Given the description of an element on the screen output the (x, y) to click on. 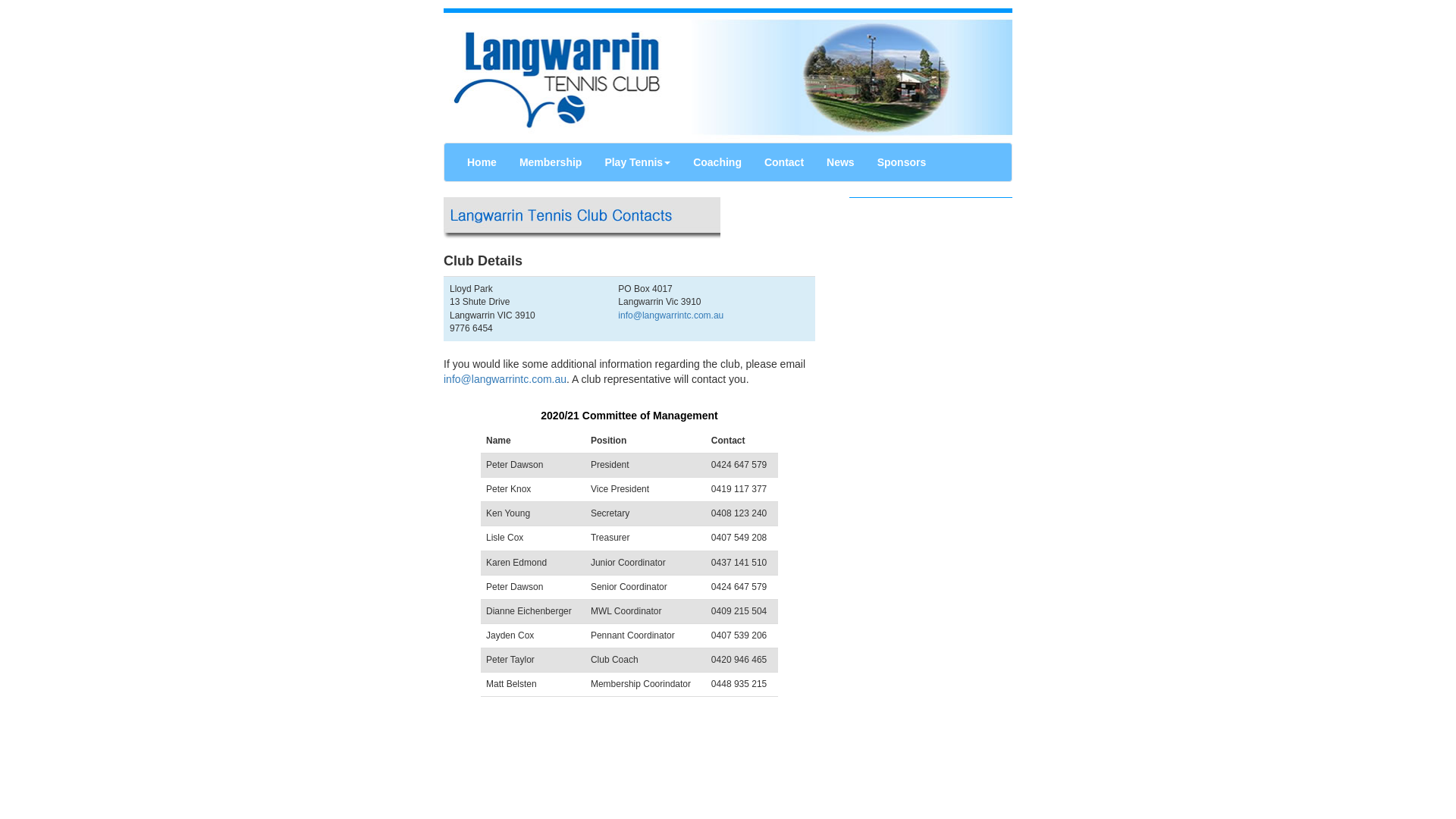
Contact Element type: text (784, 161)
Coaching Element type: text (717, 161)
info@langwarrintc.com.au Element type: text (504, 379)
Home Element type: text (481, 161)
News Element type: text (840, 161)
info@langwarrintc.com.au Element type: text (670, 315)
Membership Element type: text (550, 161)
Sponsors Element type: text (902, 161)
Play Tennis Element type: text (637, 161)
